Given the description of an element on the screen output the (x, y) to click on. 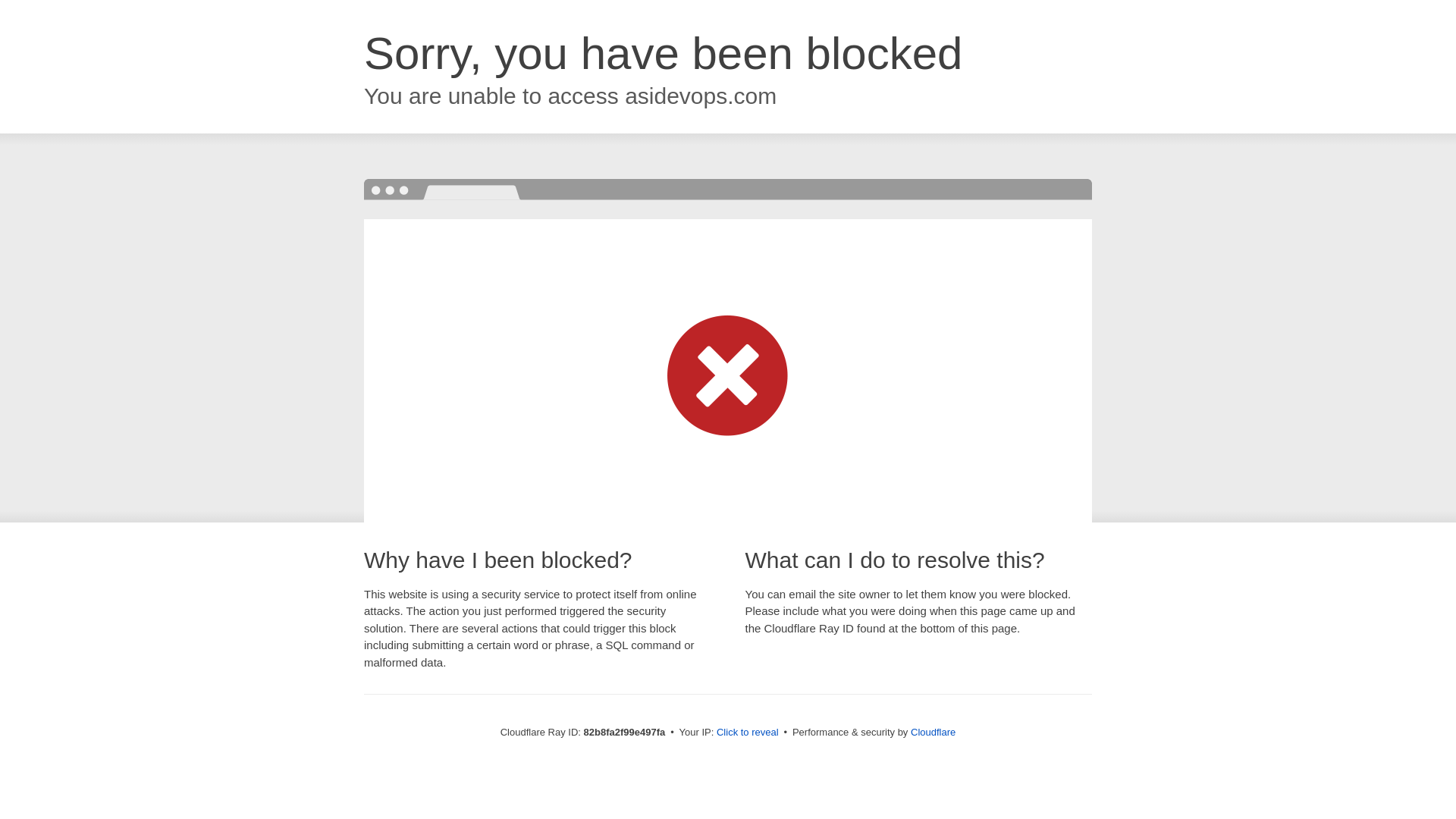
Click to reveal Element type: text (747, 732)
Cloudflare Element type: text (932, 731)
